Given the description of an element on the screen output the (x, y) to click on. 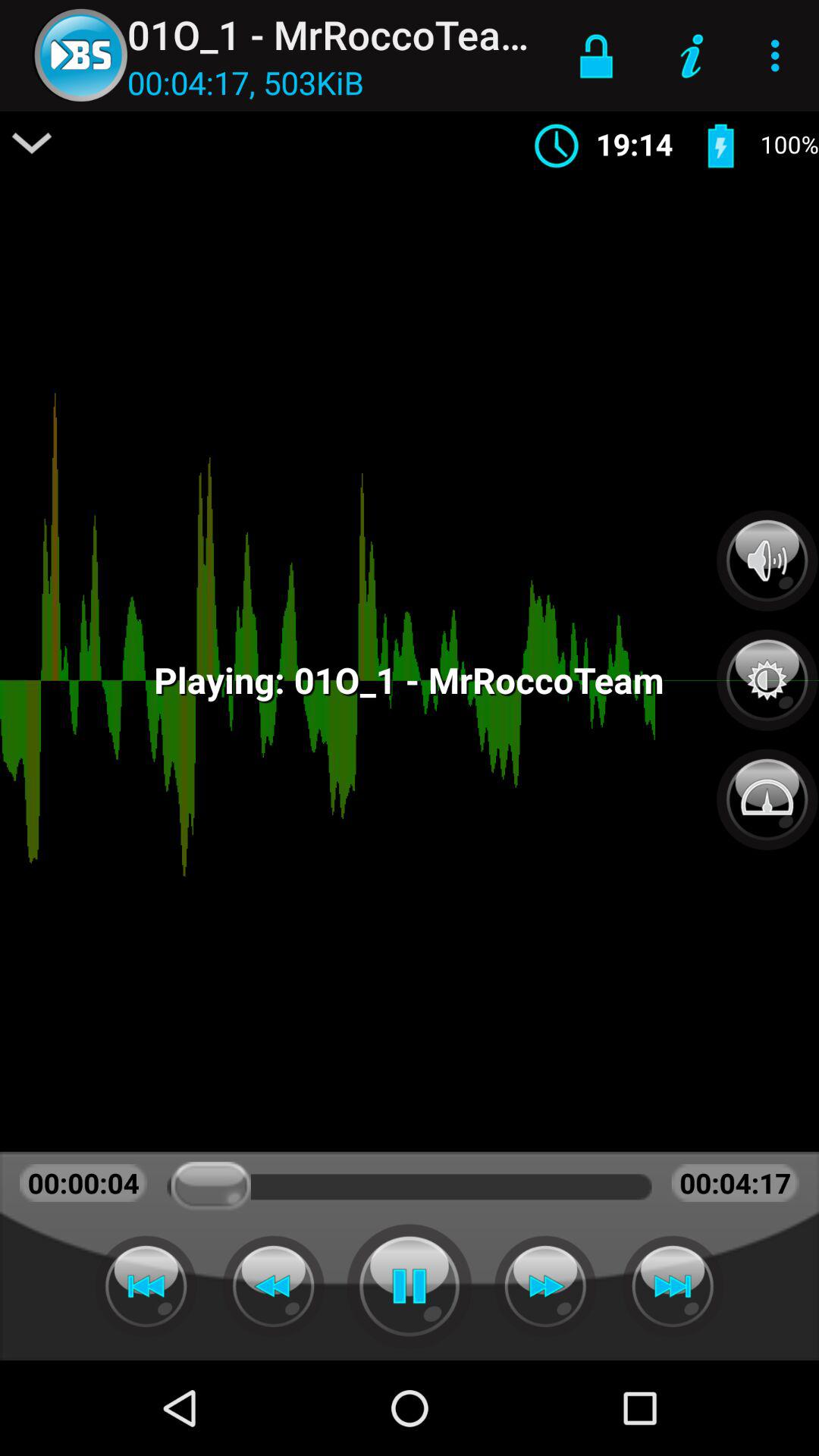
next (545, 1286)
